Given the description of an element on the screen output the (x, y) to click on. 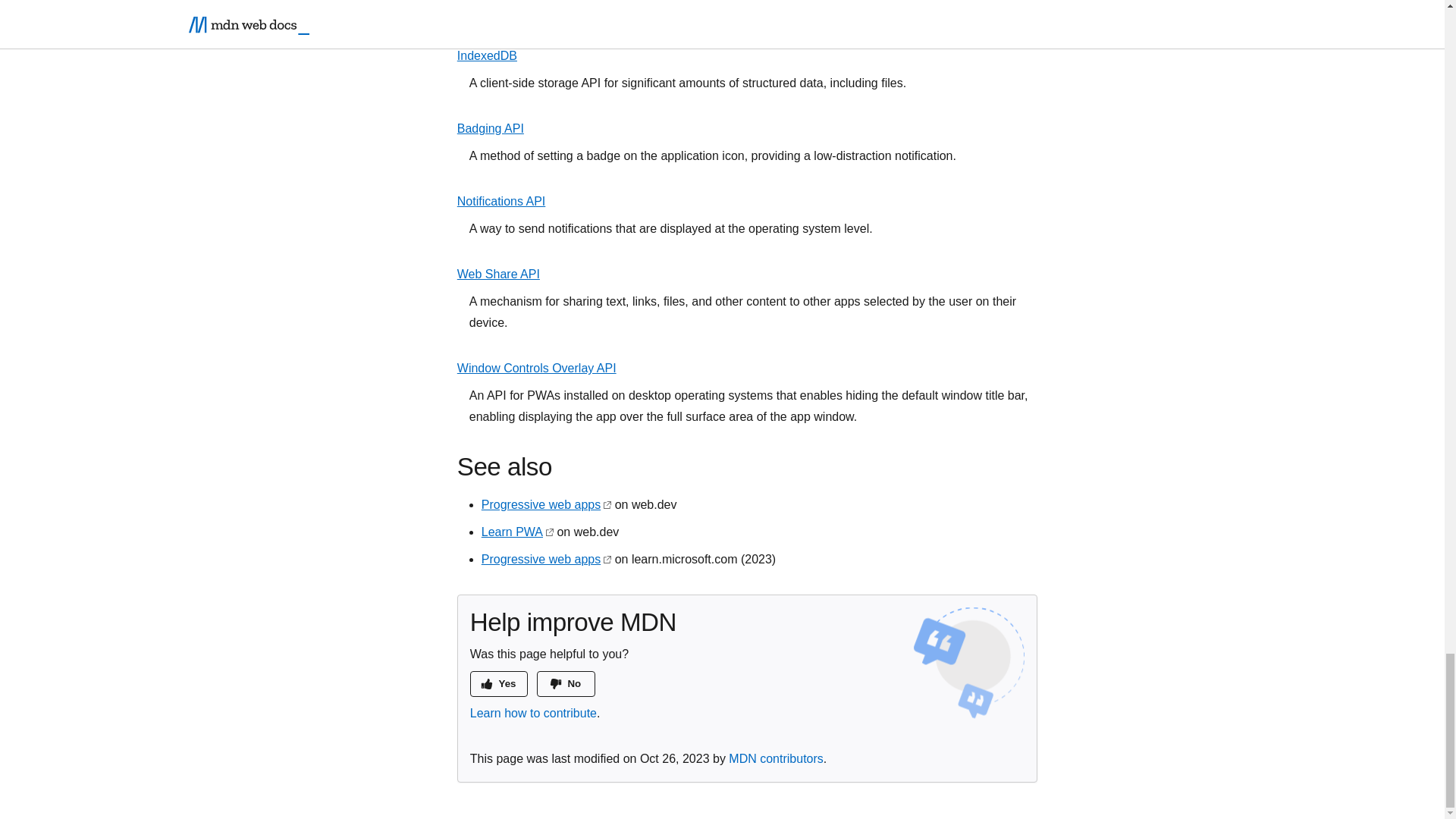
This will take you to our contribution guidelines on GitHub. (533, 712)
